Given the description of an element on the screen output the (x, y) to click on. 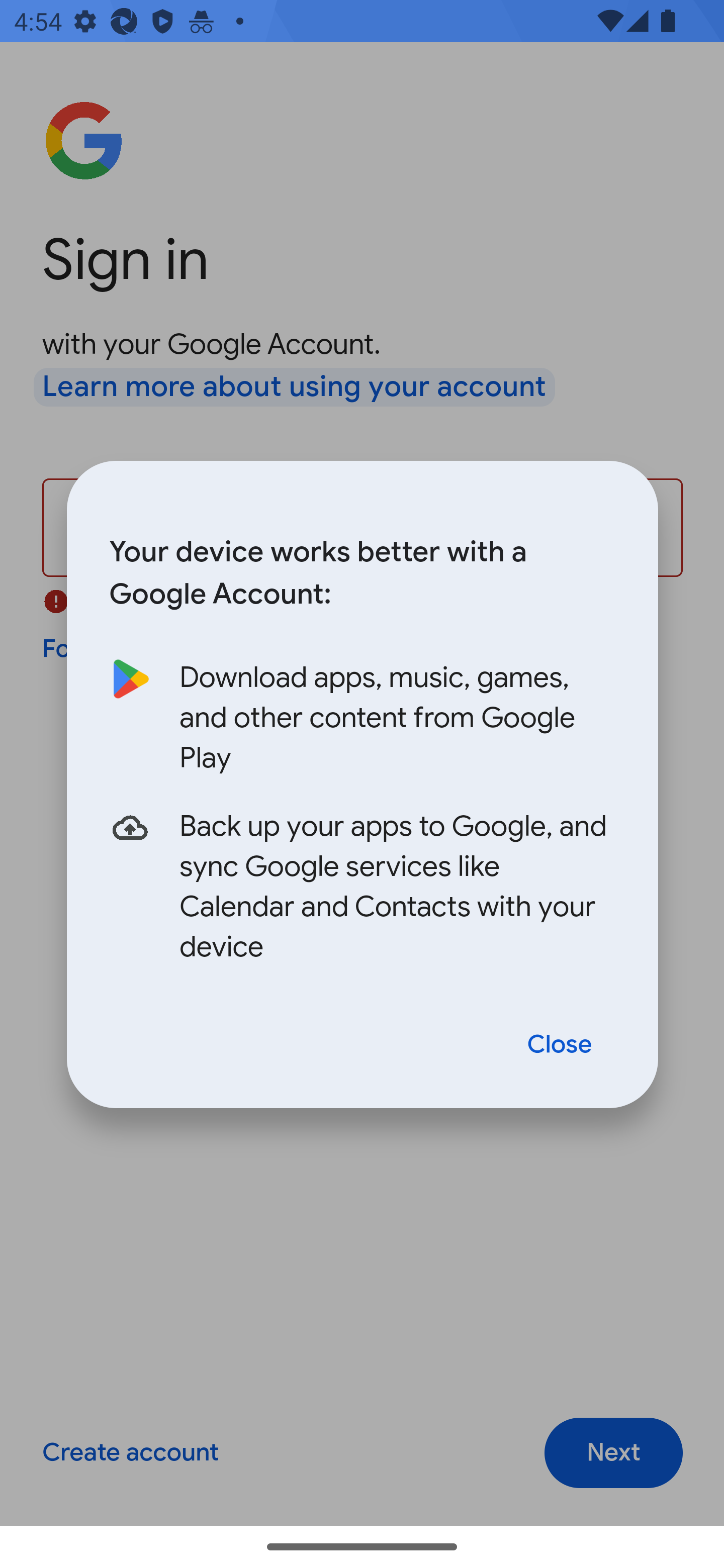
Close (560, 1044)
